Given the description of an element on the screen output the (x, y) to click on. 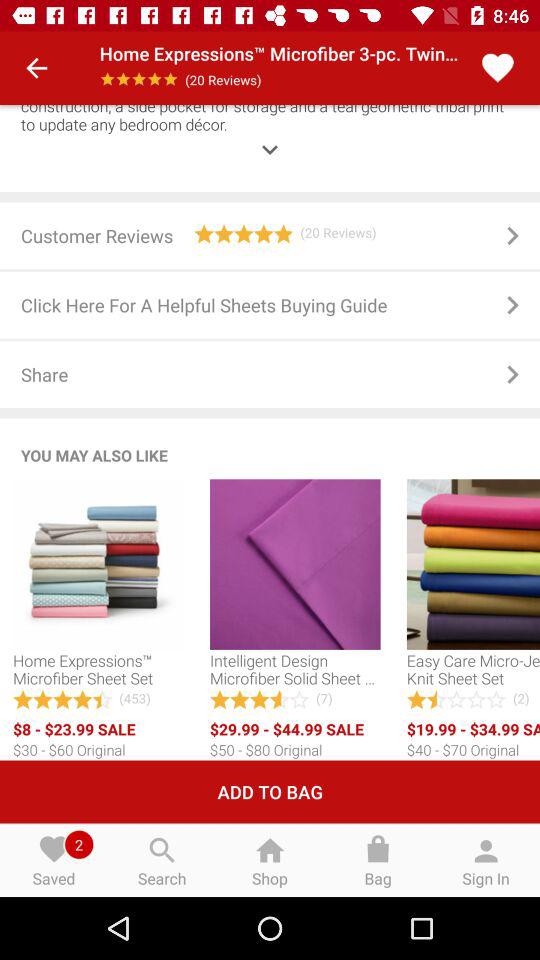
click add to bag (270, 791)
